Given the description of an element on the screen output the (x, y) to click on. 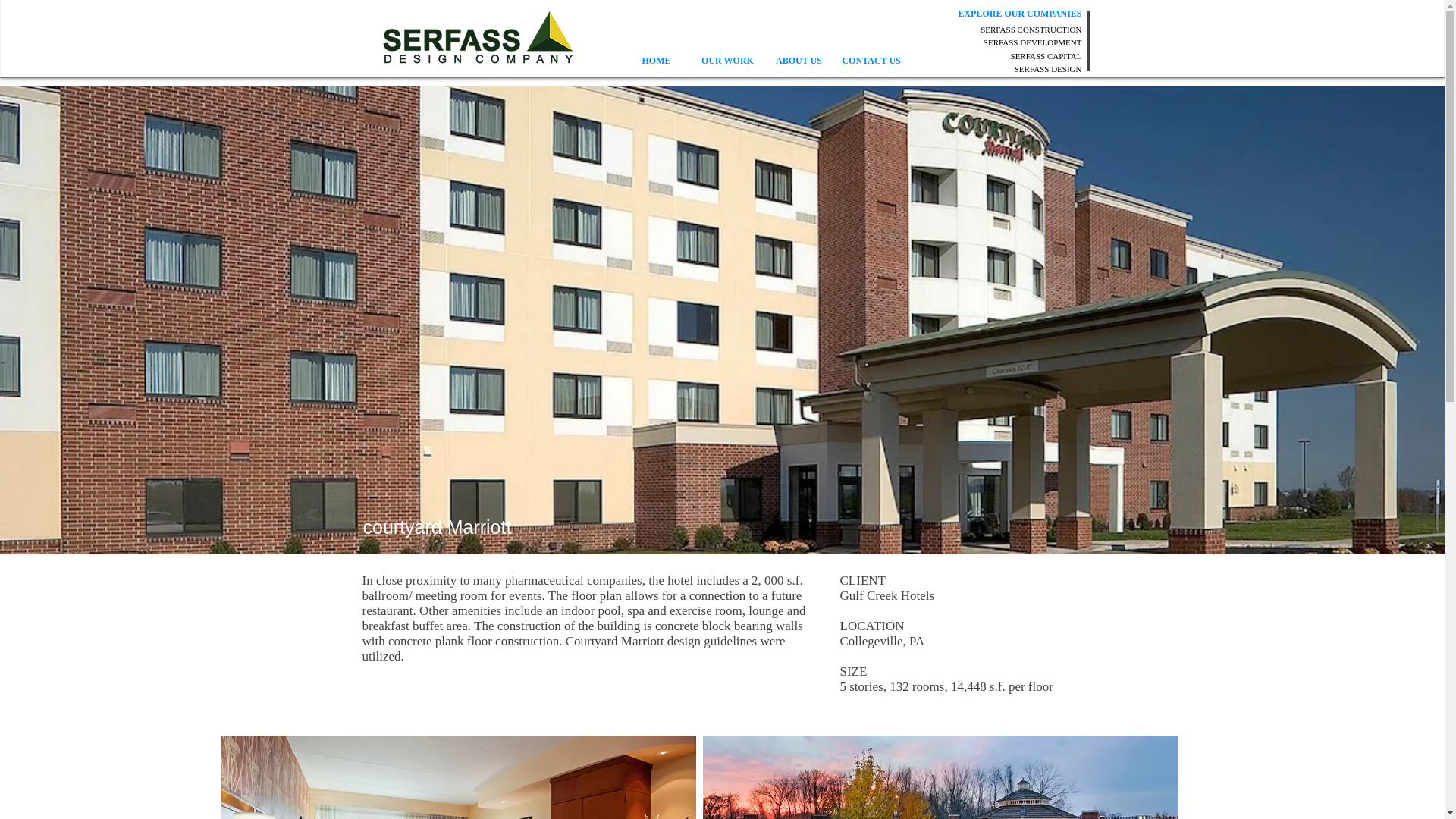
ABOUT US (798, 60)
HOME (655, 60)
OUR WORK (726, 60)
SERFASS CONSTRUCTION (1030, 29)
SERFASS DEVELOPMENT (1032, 41)
SERFASS DESIGN (1047, 68)
CONTACT US (869, 60)
SERFASS CAPITAL (1045, 55)
